Given the description of an element on the screen output the (x, y) to click on. 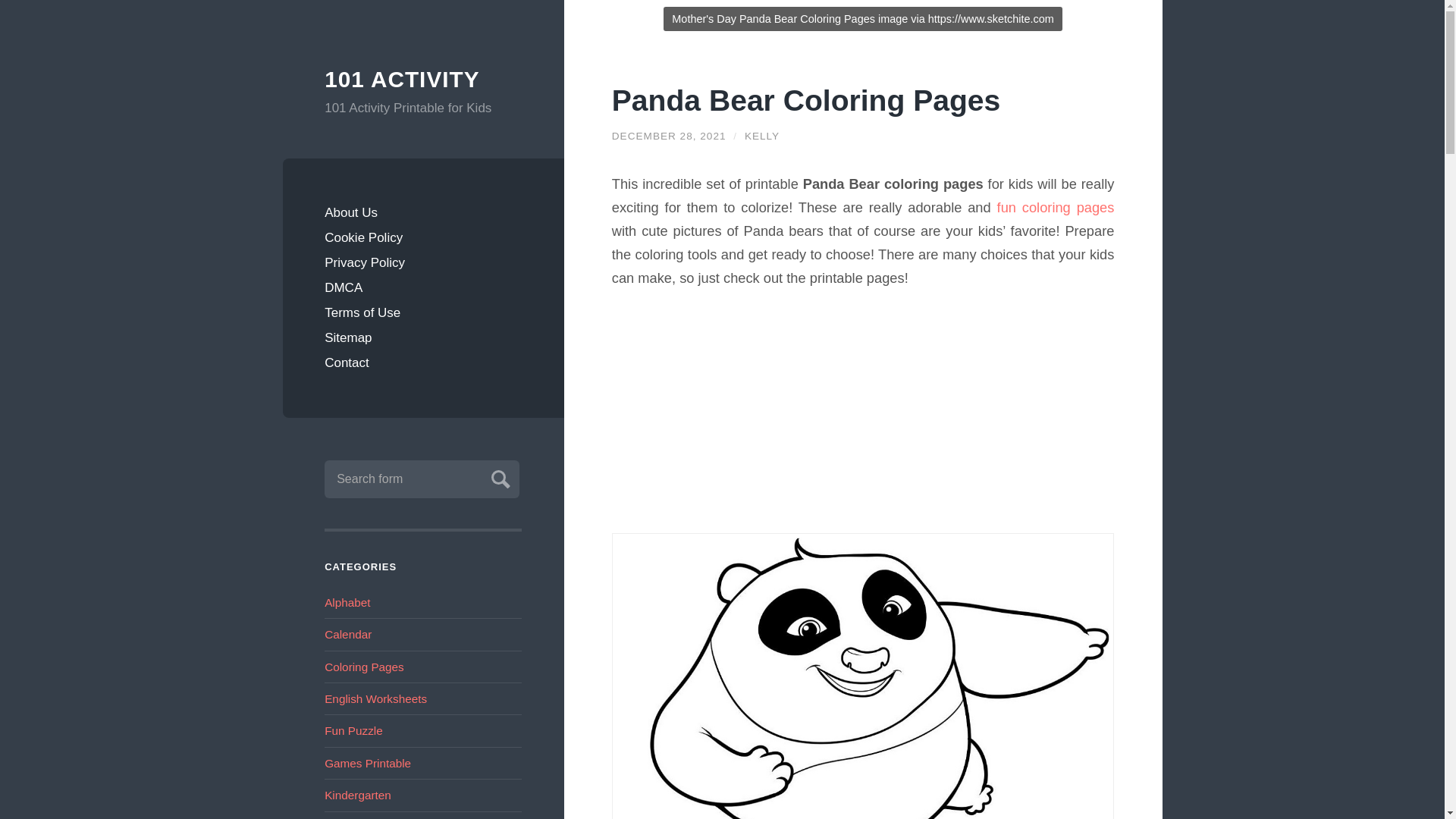
Privacy Policy (422, 262)
About Us (422, 212)
DMCA (422, 287)
Coloring Pages (364, 666)
Sitemap (422, 337)
Cookie Policy (422, 237)
Games Printable (367, 762)
Contact (422, 362)
101 ACTIVITY (422, 79)
English Worksheets (375, 698)
Search (498, 477)
Kindergarten (357, 794)
Fun Puzzle (353, 730)
Panda Bear Coloring Pages (806, 100)
Terms of Use (422, 312)
